Given the description of an element on the screen output the (x, y) to click on. 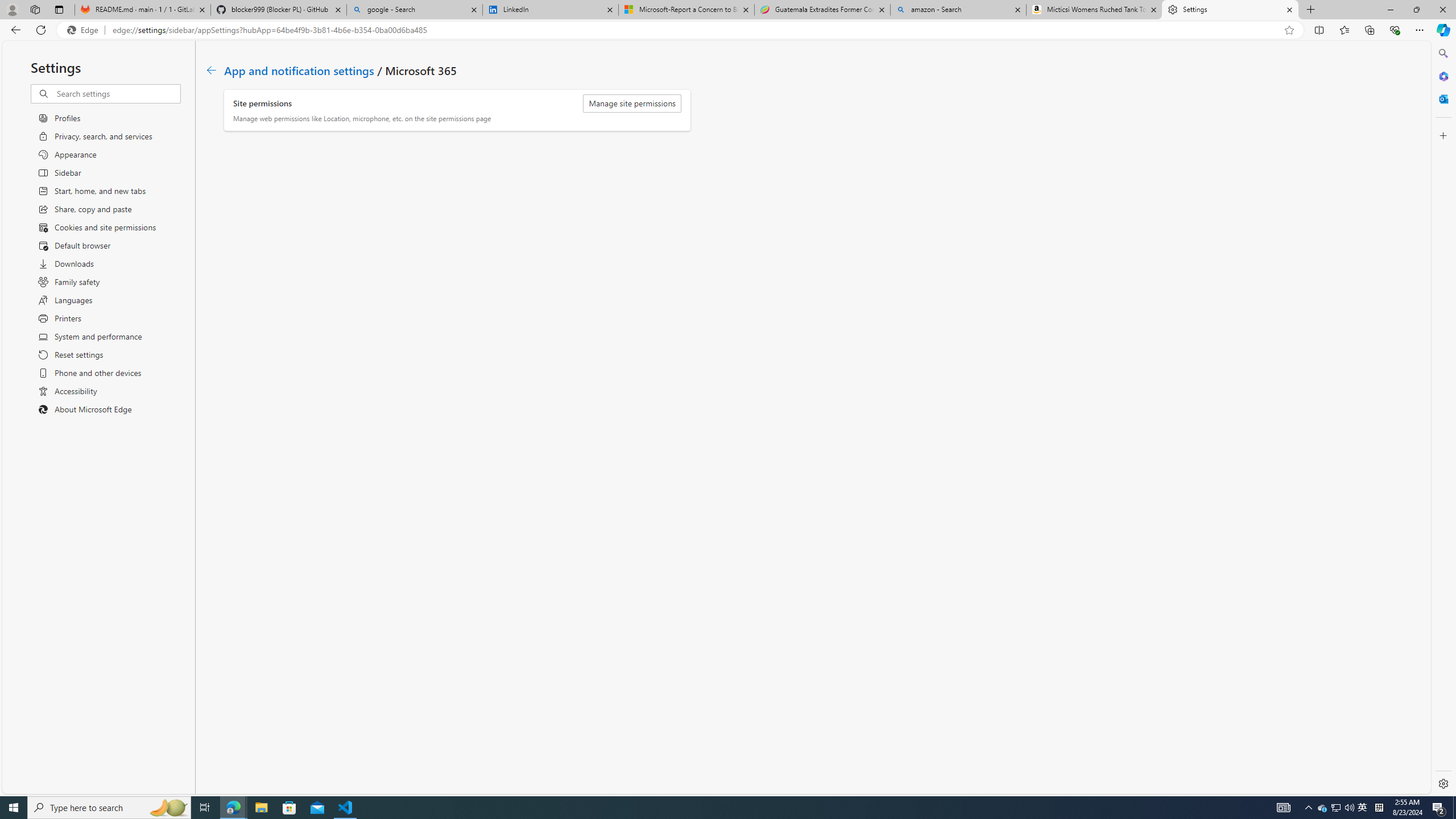
Manage site permissions (631, 103)
Edge (84, 29)
Microsoft-Report a Concern to Bing (685, 9)
amazon - Search (957, 9)
Class: c01182 (210, 70)
